Given the description of an element on the screen output the (x, y) to click on. 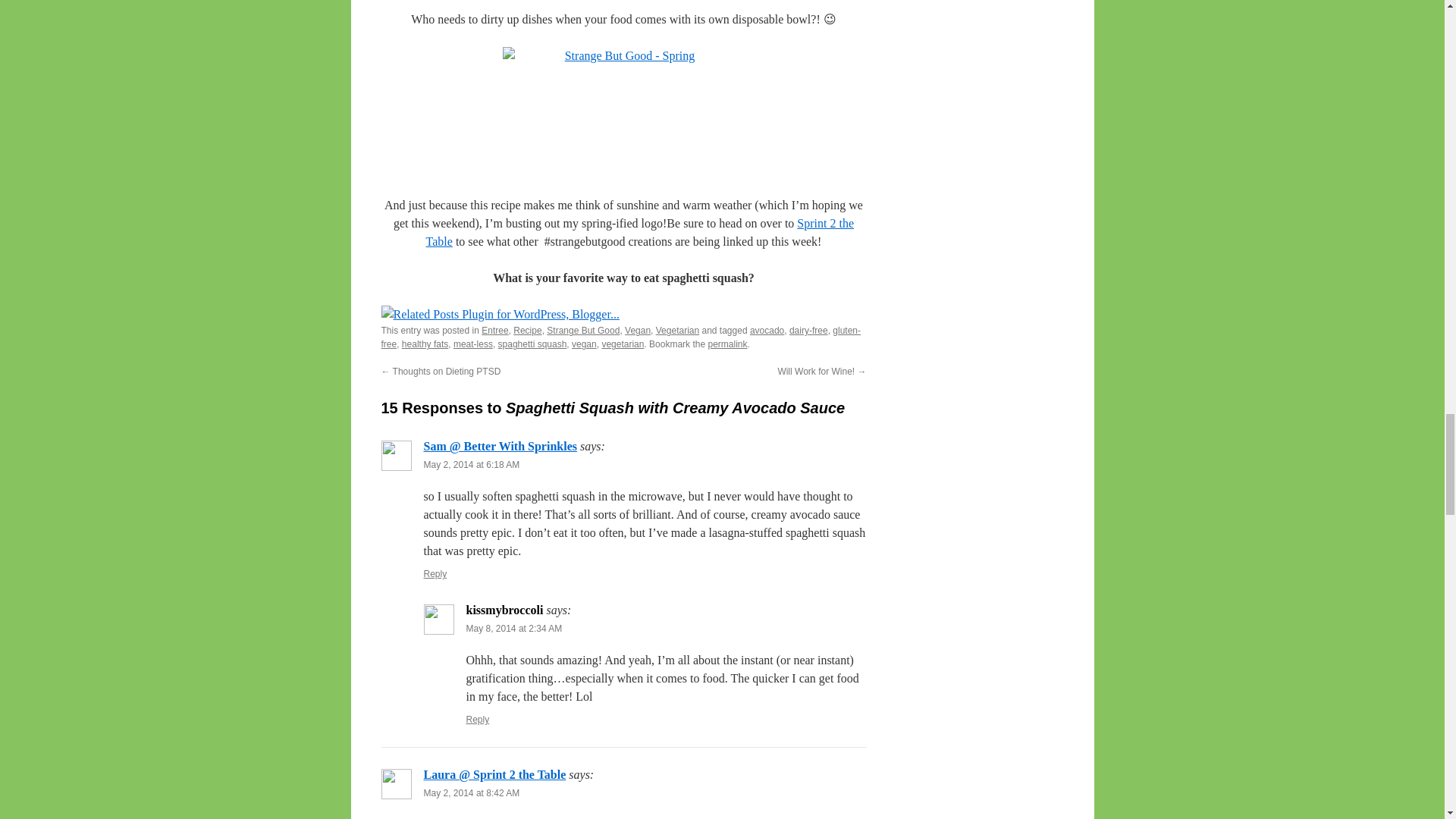
healthy fats (424, 344)
Entree (494, 330)
vegetarian (622, 344)
Permalink to Spaghetti Squash with Creamy Avocado Sauce (726, 344)
Vegan (637, 330)
dairy-free (808, 330)
Recipe (527, 330)
spaghetti squash (532, 344)
avocado (766, 330)
gluten-free (620, 337)
